Given the description of an element on the screen output the (x, y) to click on. 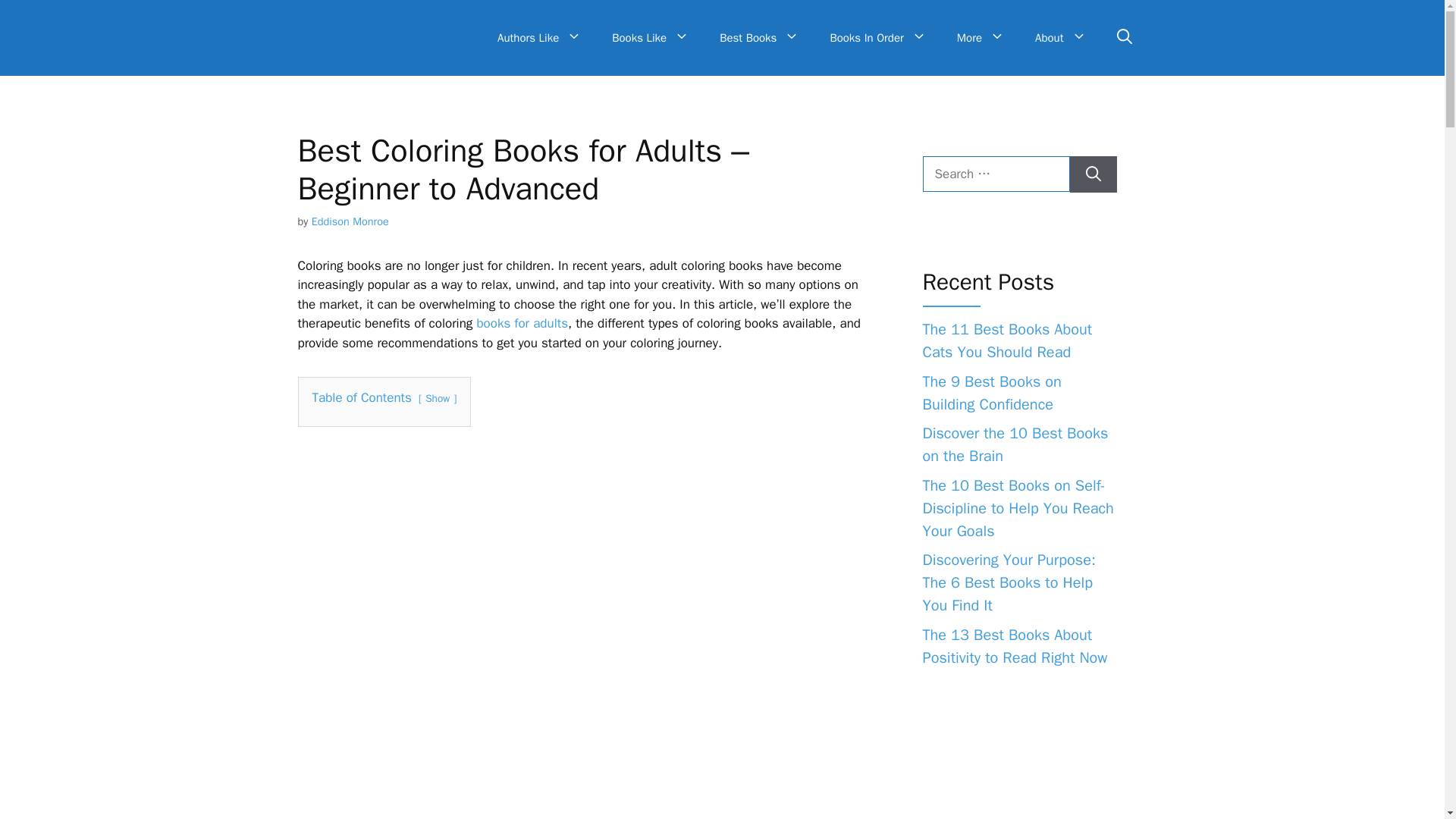
Authors Like (538, 37)
Best Books (758, 37)
Discover the 8 Best Fantasy Books for Adults (521, 323)
View all posts by Eddison Monroe (349, 221)
Books Like (650, 37)
